Given the description of an element on the screen output the (x, y) to click on. 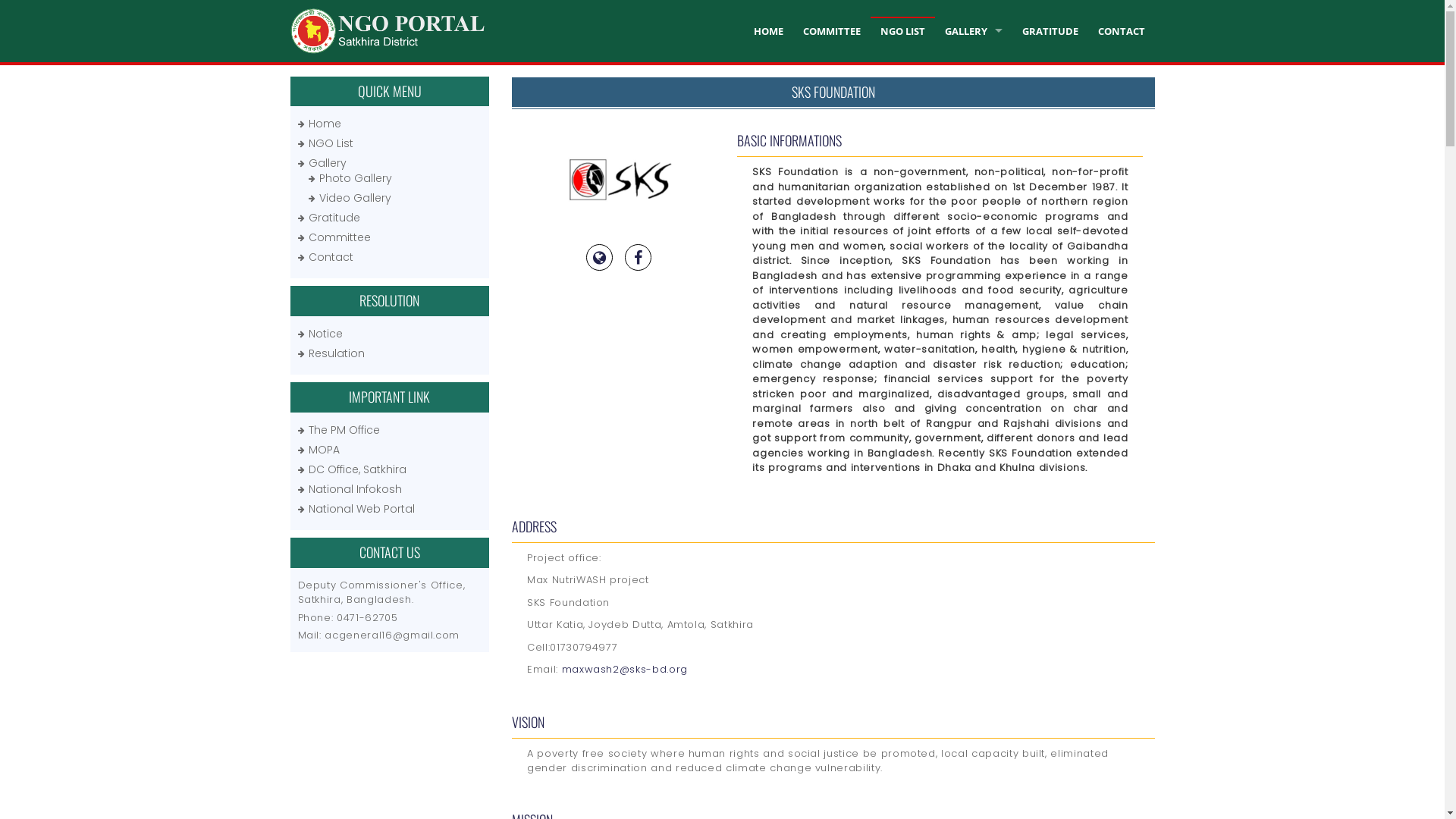
maxwash2@sks-bd.org Element type: text (624, 669)
DC Office, Satkhira Element type: text (356, 468)
National Web Portal Element type: text (360, 508)
Committee Element type: text (338, 236)
Gallery Element type: text (326, 162)
NGO List Element type: text (329, 142)
Photo Gallery Element type: text (354, 177)
Gratitude Element type: text (333, 217)
Home Element type: text (323, 123)
Notice Element type: text (324, 333)
NGO LIST Element type: text (902, 30)
The PM Office Element type: text (343, 429)
Contact Element type: text (329, 256)
Resulation Element type: text (335, 352)
GRATITUDE Element type: text (1049, 30)
CONTACT Element type: text (1120, 30)
MOPA Element type: text (322, 449)
Video Gallery Element type: text (354, 197)
COMMITTEE Element type: text (831, 30)
National Infokosh Element type: text (354, 488)
HOME Element type: text (768, 30)
GALLERY Element type: text (973, 30)
